Given the description of an element on the screen output the (x, y) to click on. 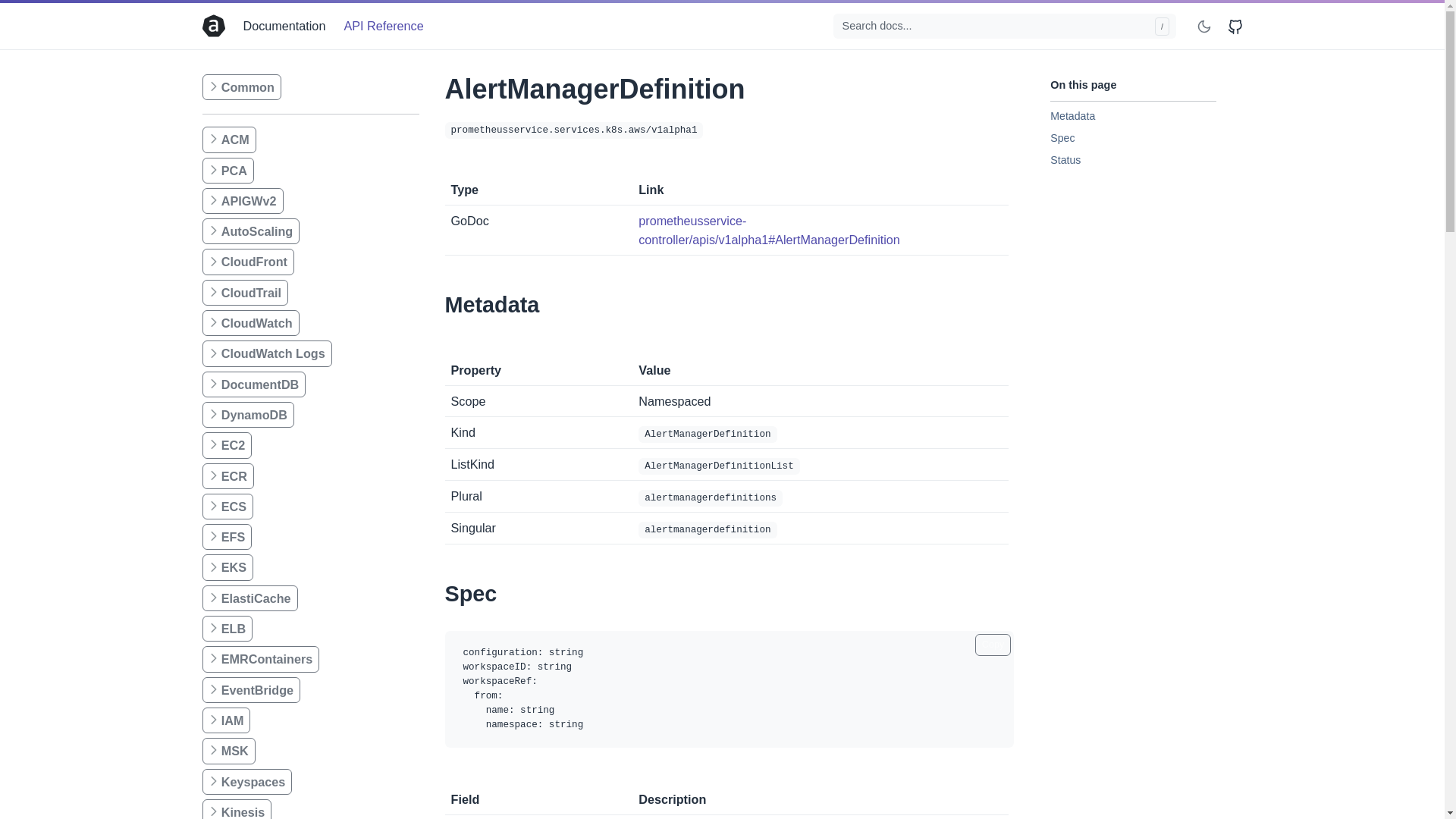
APIGWv2 (242, 200)
API Reference (380, 25)
Documentation (287, 25)
PCA (227, 170)
AutoScaling (250, 231)
CloudFront (248, 261)
Common (241, 86)
ACM (229, 139)
